Given the description of an element on the screen output the (x, y) to click on. 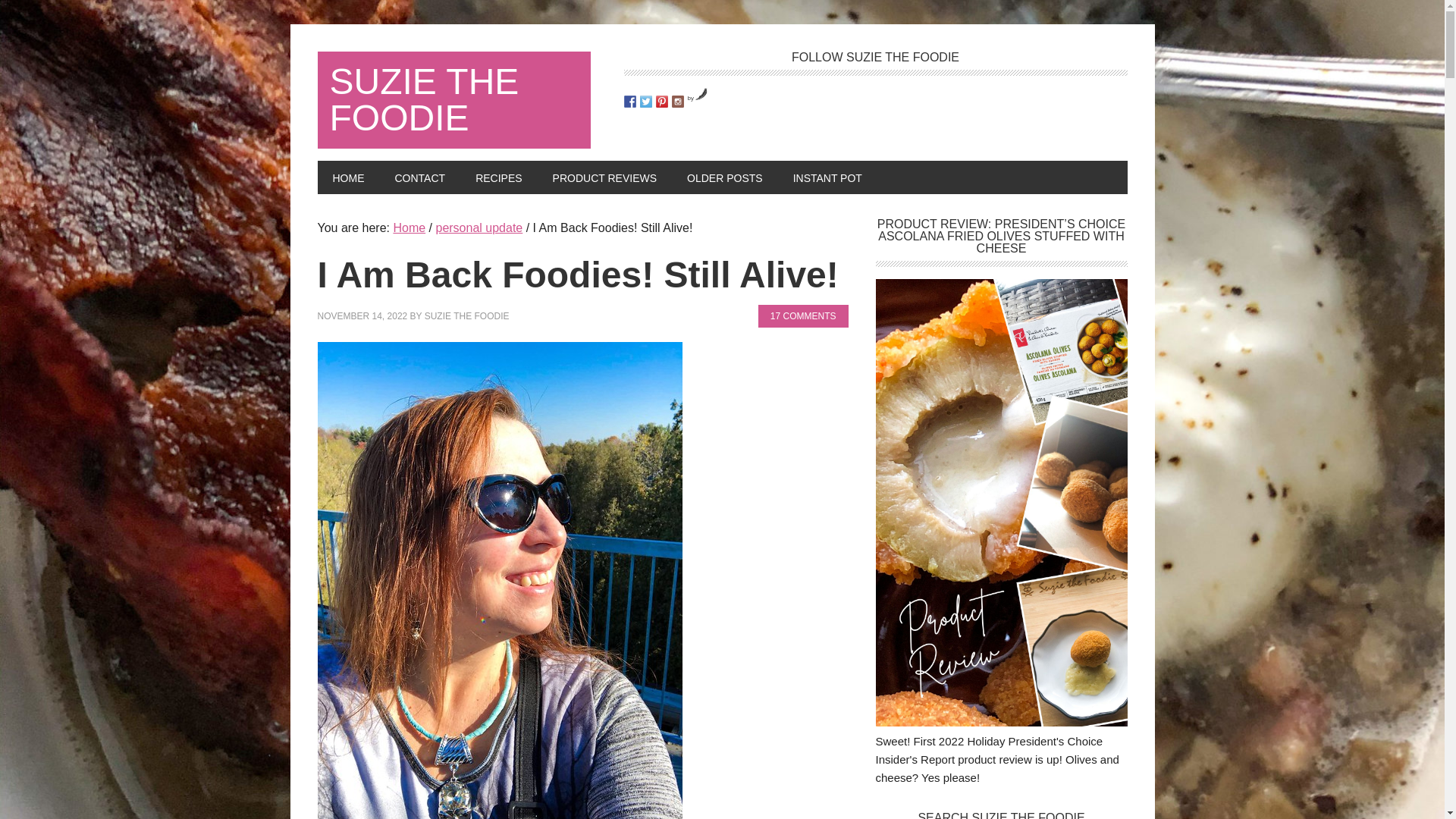
CONTACT (419, 177)
HOME (347, 177)
Home (409, 227)
Follow me on Pinterest (660, 101)
RECIPES (498, 177)
by (697, 98)
personal update (478, 227)
SUZIE THE FOODIE (467, 316)
17 COMMENTS (803, 315)
Follow me on Facebook (628, 101)
SUZIE THE FOODIE (453, 99)
Check out our instagram feed (677, 101)
OLDER POSTS (724, 177)
WordPress Social Media Feather (697, 98)
